Given the description of an element on the screen output the (x, y) to click on. 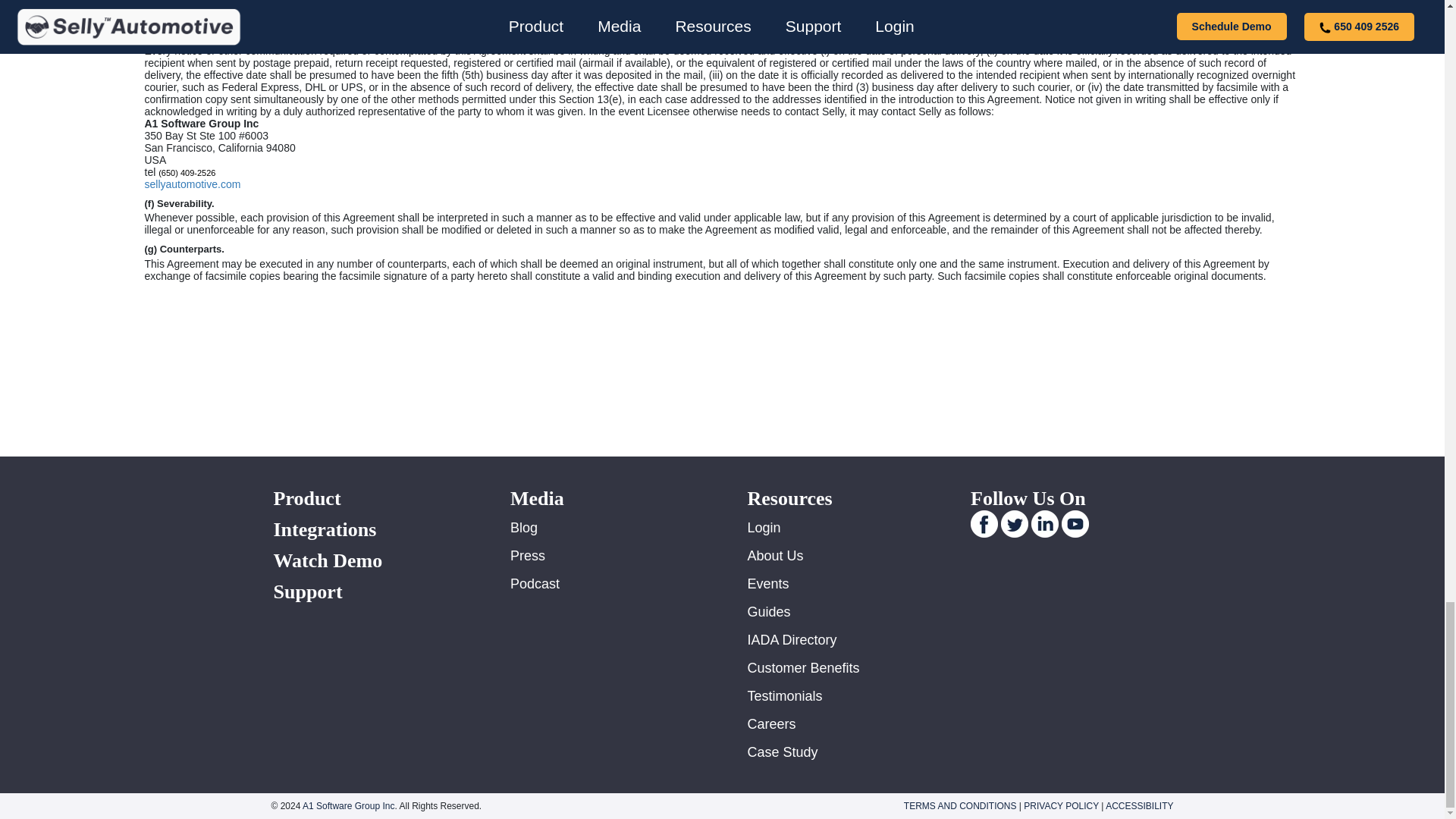
Podcast (535, 583)
IADA Directory (792, 639)
Watch Demo (373, 560)
About Us (775, 555)
Events (768, 583)
Product (373, 498)
Guides (769, 611)
Customer Benefits (804, 667)
Testimonials (785, 695)
Careers (772, 724)
Press (527, 555)
Login (764, 527)
Integrations (373, 529)
Support (373, 591)
Case Study (783, 752)
